Given the description of an element on the screen output the (x, y) to click on. 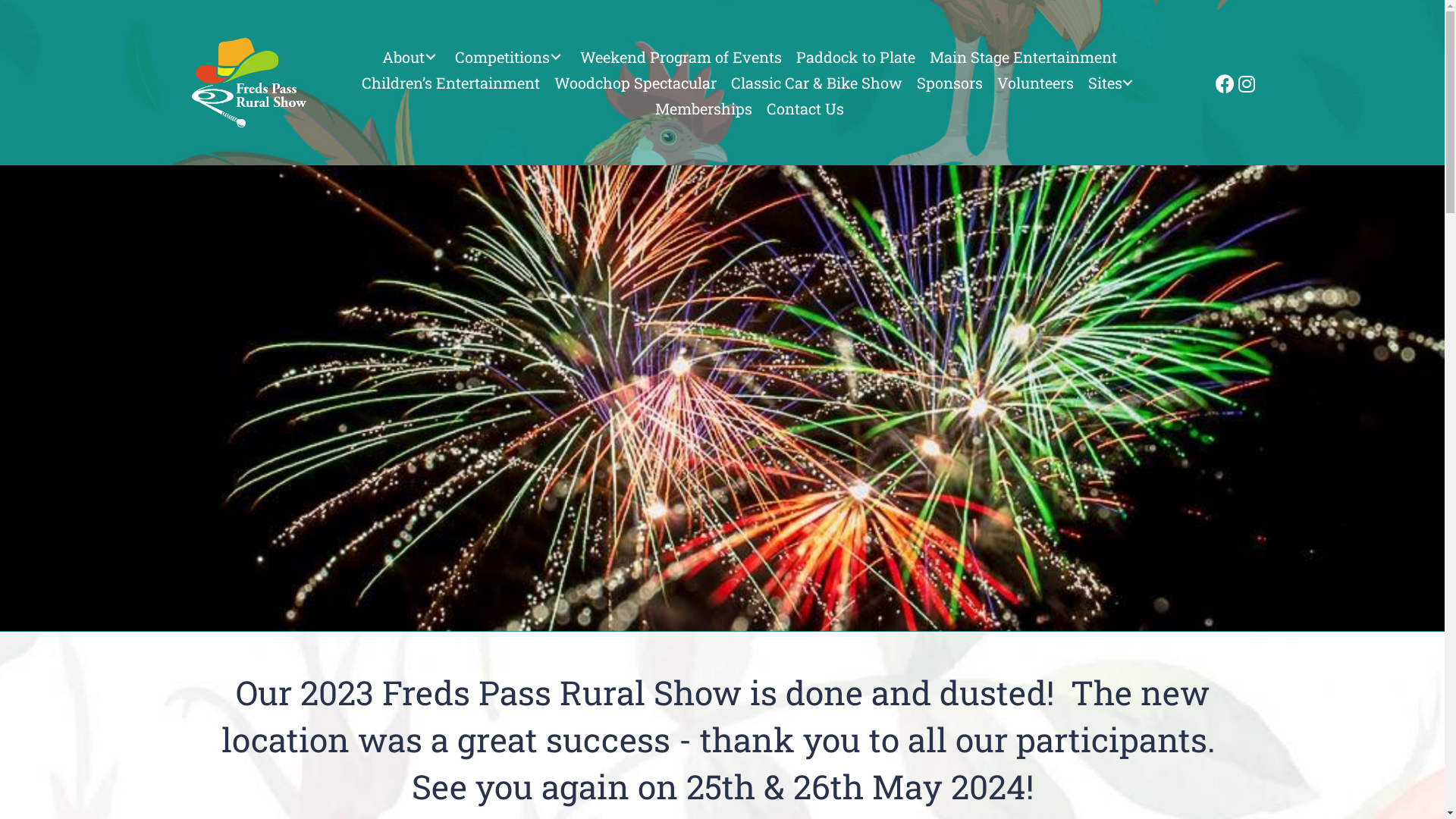
Instagram Element type: hover (1244, 82)
Sites Element type: text (1112, 82)
Main Stage Entertainment Element type: text (1023, 56)
Memberships Element type: text (703, 108)
Volunteers Element type: text (1035, 82)
Paddock to Plate Element type: text (855, 56)
Weekend Program of Events Element type: text (680, 56)
Contact Us Element type: text (805, 108)
Sponsors Element type: text (949, 82)
About Element type: text (410, 56)
Classic Car & Bike Show Element type: text (815, 82)
Woodchop Spectacular Element type: text (635, 82)
fredspass-reversed Element type: hover (248, 82)
Competitions Element type: text (510, 56)
Facebook Element type: hover (1222, 82)
